Given the description of an element on the screen output the (x, y) to click on. 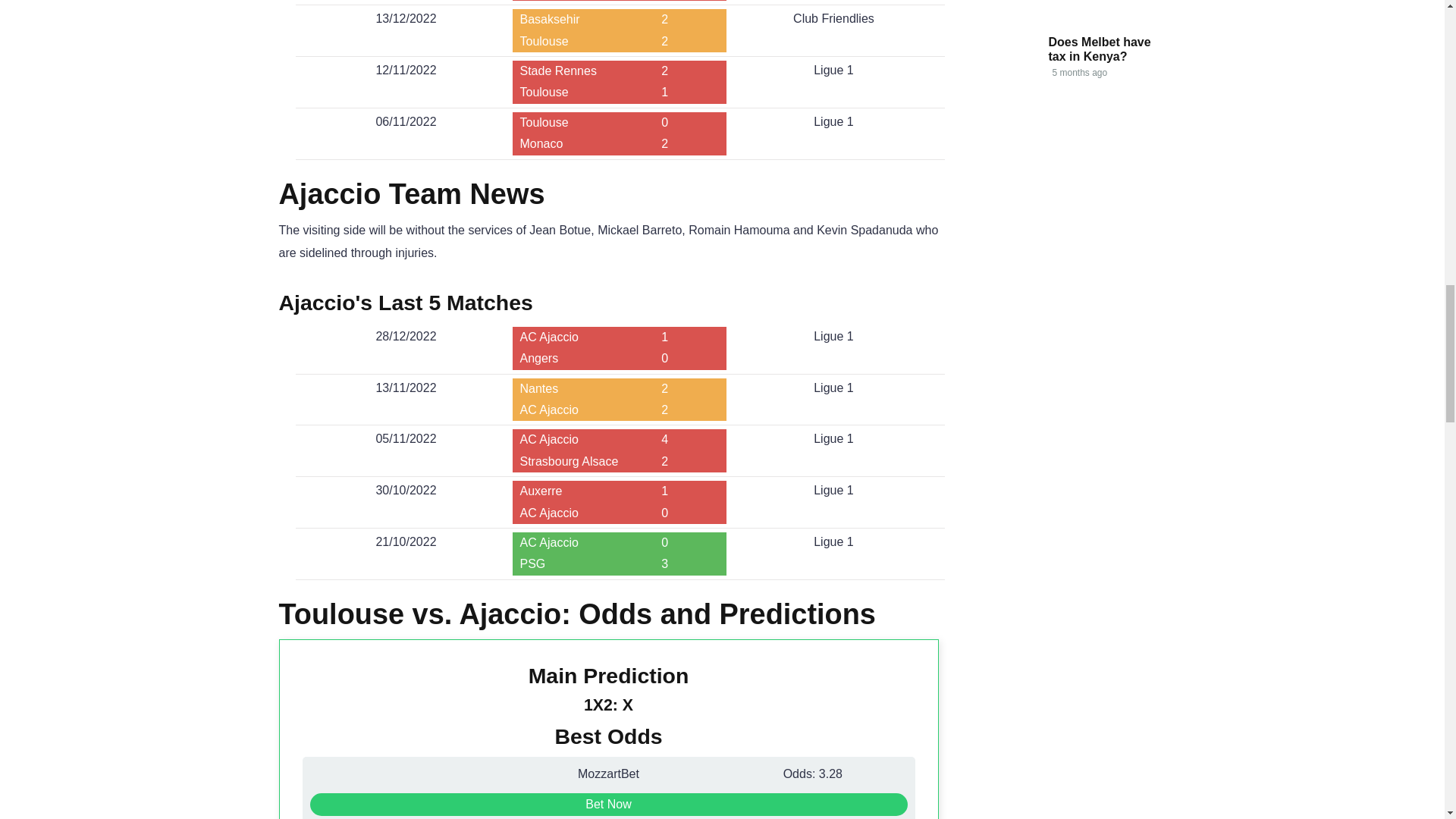
Bet Now (607, 804)
